Given the description of an element on the screen output the (x, y) to click on. 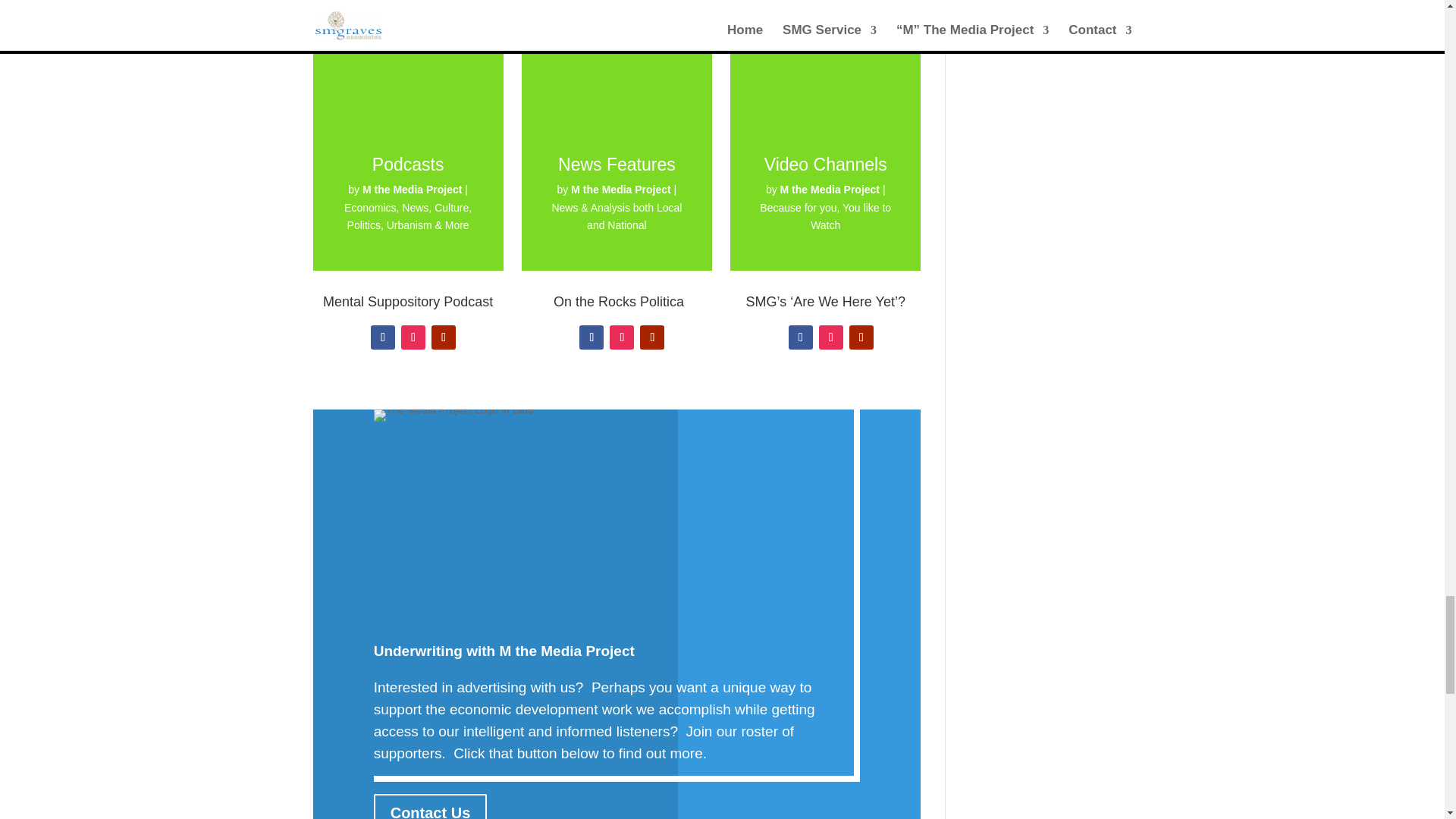
Follow on Facebook (382, 337)
Follow on Instagram (413, 337)
Follow on Youtube (442, 337)
